Given the description of an element on the screen output the (x, y) to click on. 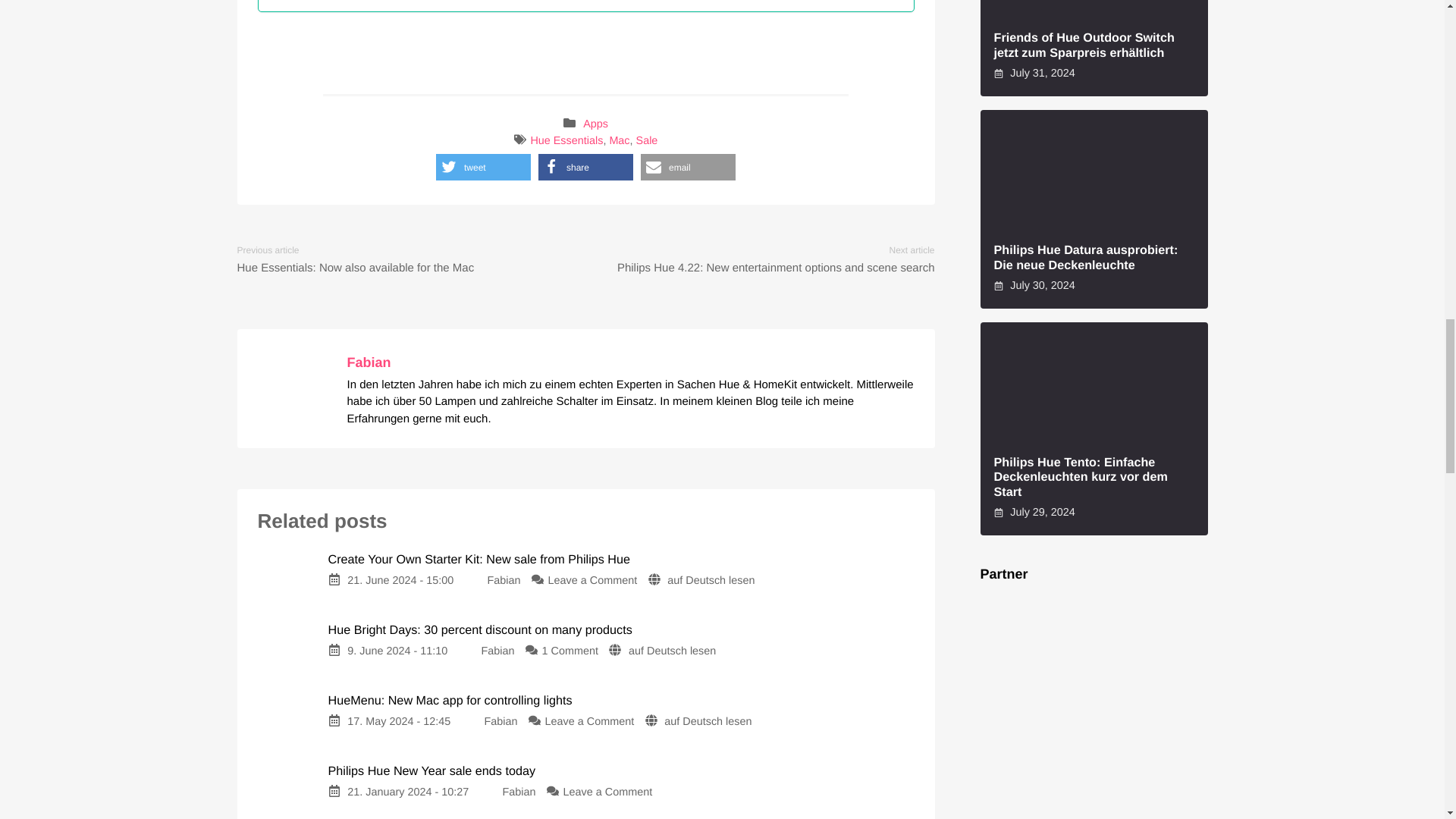
Share on Twitter (483, 166)
auf Deutsch lesen (707, 721)
Share on Facebook (585, 166)
auf Deutsch lesen (672, 651)
Send by email (687, 166)
auf Deutsch lesen (710, 580)
